Given the description of an element on the screen output the (x, y) to click on. 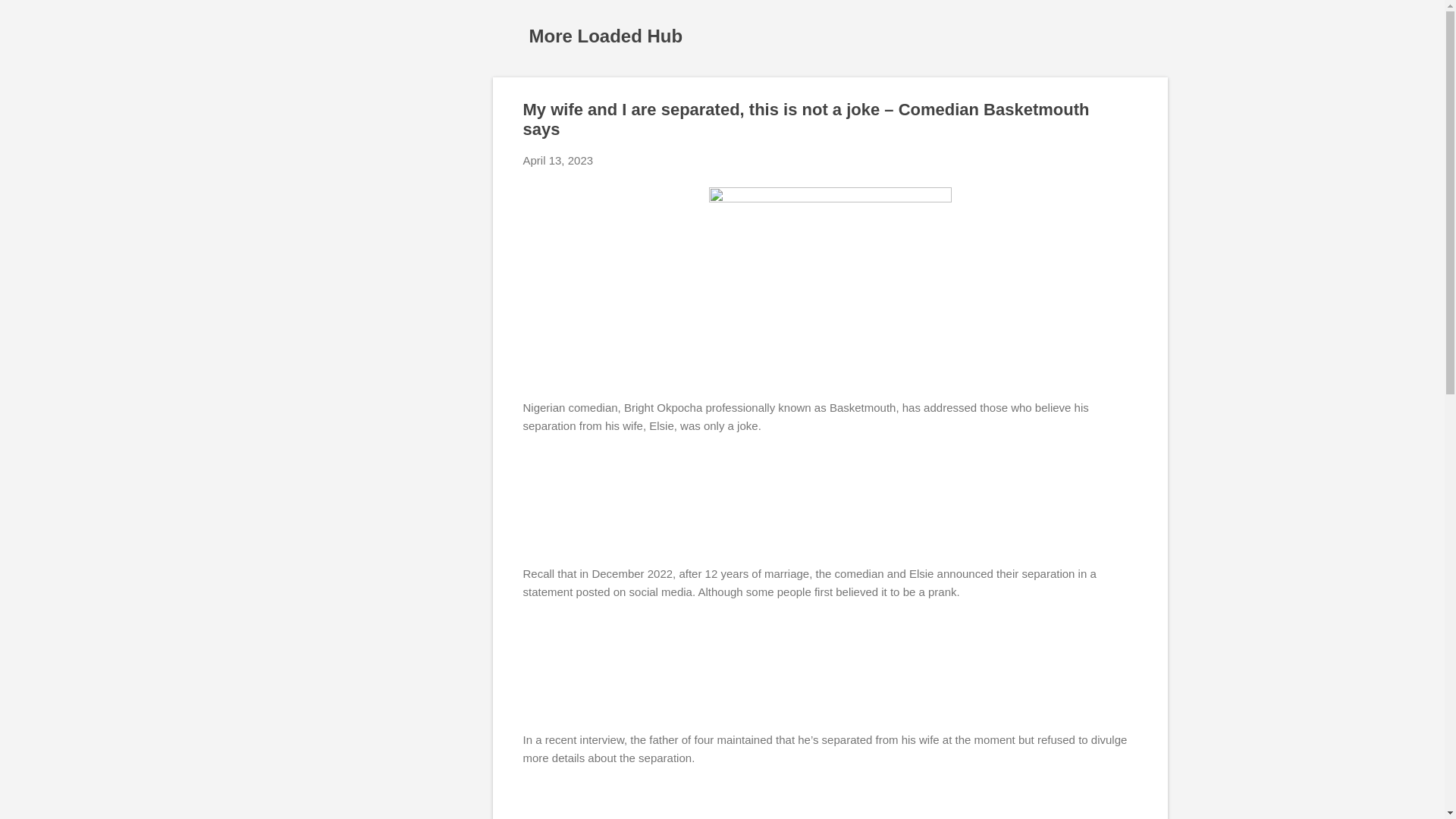
April 13, 2023 (558, 160)
More Loaded Hub (605, 35)
permanent link (558, 160)
